Given the description of an element on the screen output the (x, y) to click on. 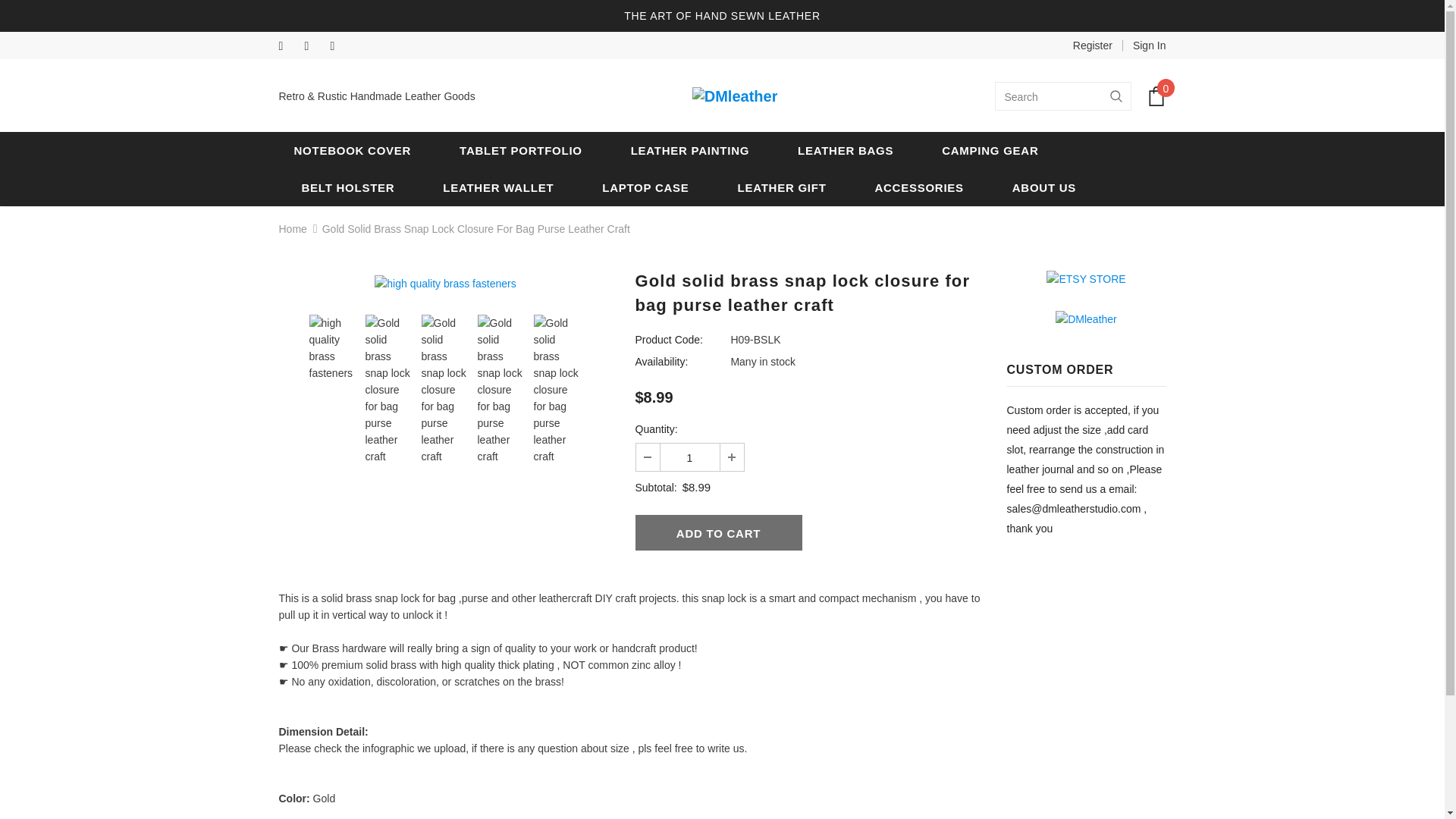
Logo (735, 96)
NOTEBOOK COVER (352, 149)
Register (1092, 45)
1 (689, 456)
Facebook (288, 46)
0 (1156, 96)
Sign In (1144, 45)
Add to Cart (718, 531)
Pinterest (339, 46)
Instagram (313, 46)
